Given the description of an element on the screen output the (x, y) to click on. 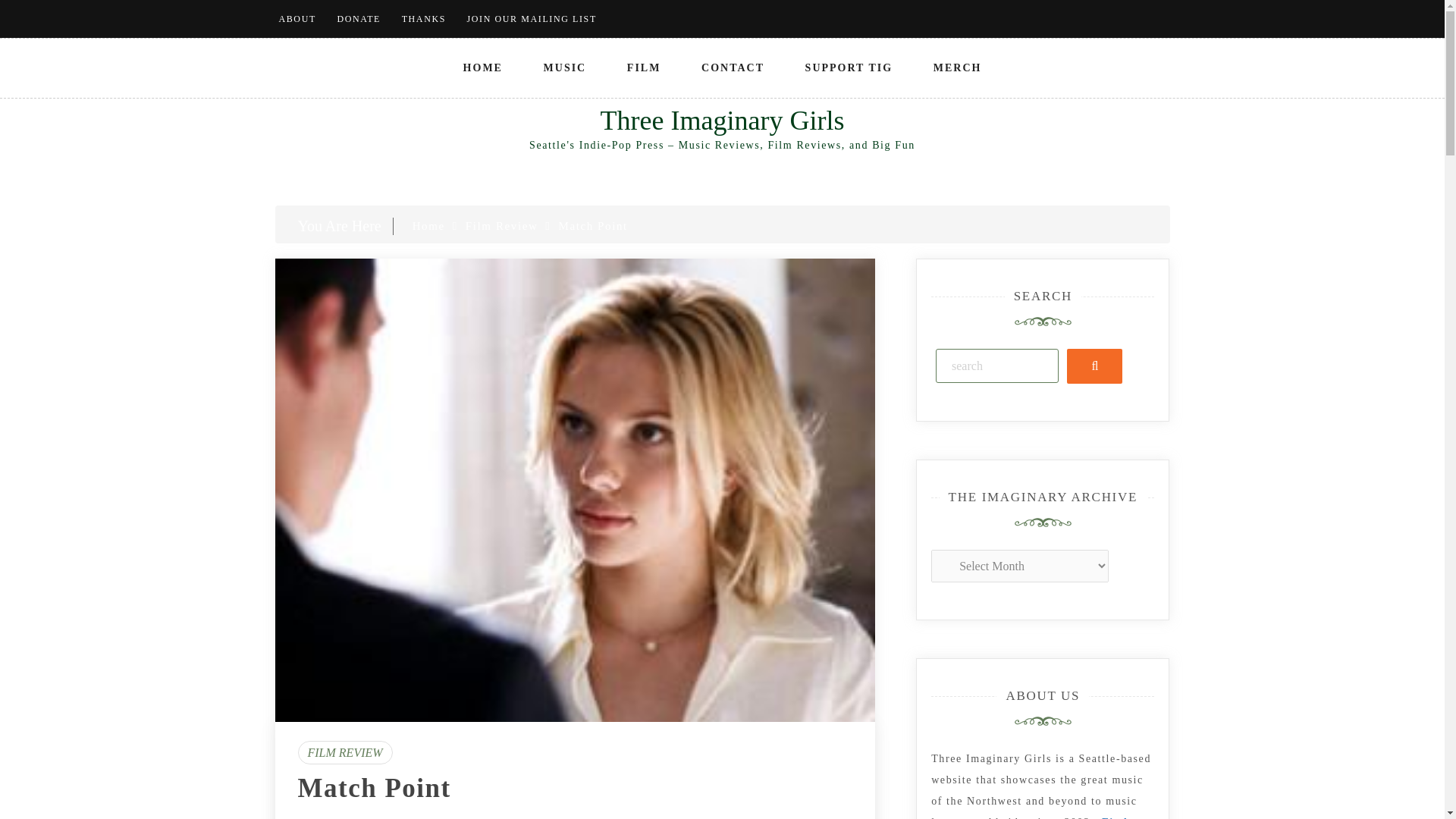
ABOUT (297, 18)
MUSIC (565, 67)
Home (428, 225)
Three Imaginary Girls (721, 120)
DONATE (358, 18)
THANKS (423, 18)
MERCH (957, 67)
FILM (643, 67)
CONTACT (732, 67)
SUPPORT TIG (849, 67)
JOIN OUR MAILING LIST (531, 18)
HOME (483, 67)
